Given the description of an element on the screen output the (x, y) to click on. 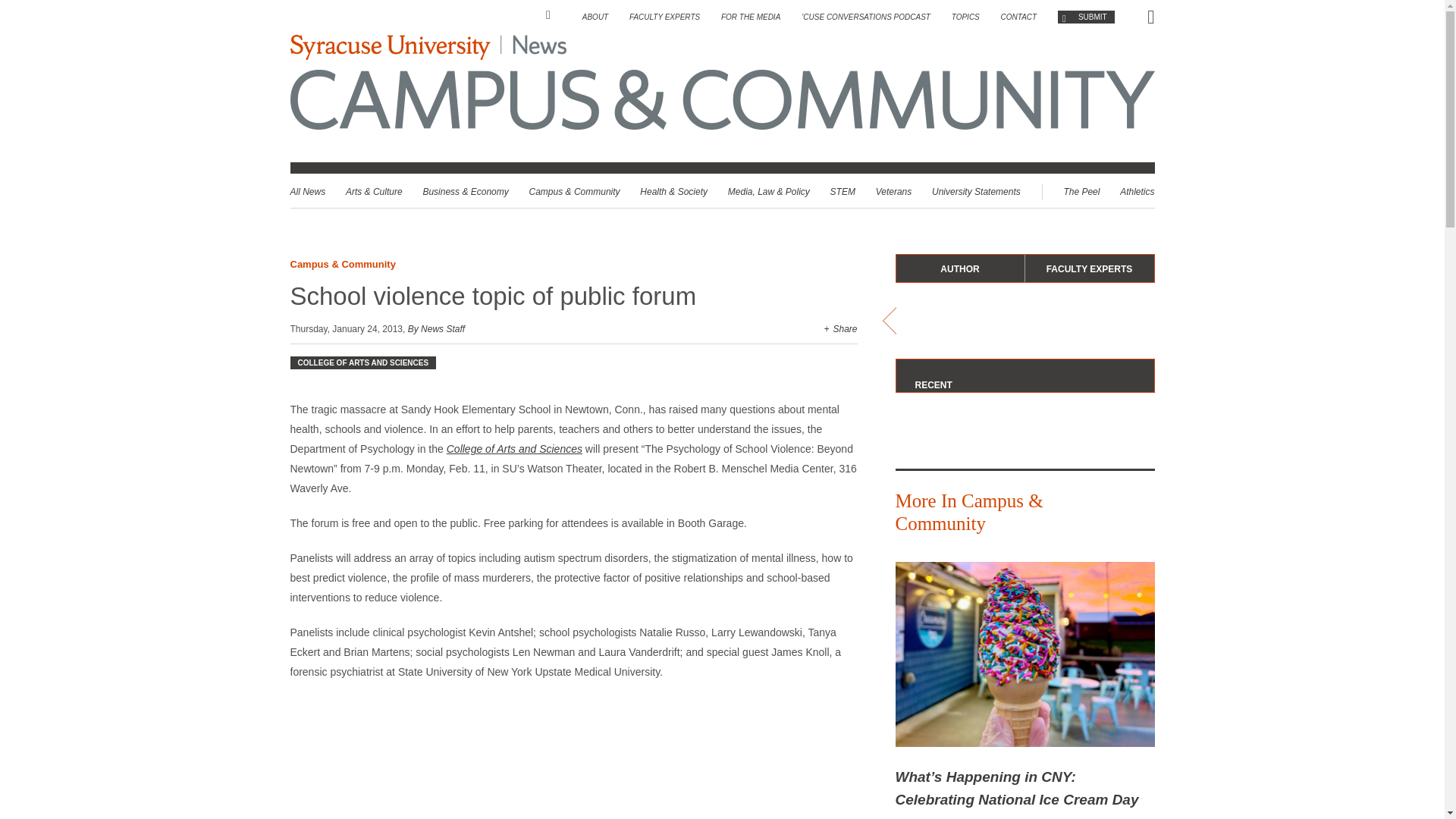
Home (553, 15)
CONTACT (1018, 17)
Topics (965, 17)
TOPICS (965, 17)
FOR THE MEDIA (750, 17)
Syracuse University News (538, 47)
SUBMIT (1086, 16)
For The Media (750, 17)
University Statements (975, 191)
Veterans (894, 191)
Syracuse University News (427, 47)
About (595, 17)
All News (306, 191)
Athletics (1136, 191)
Contact (1018, 17)
